Given the description of an element on the screen output the (x, y) to click on. 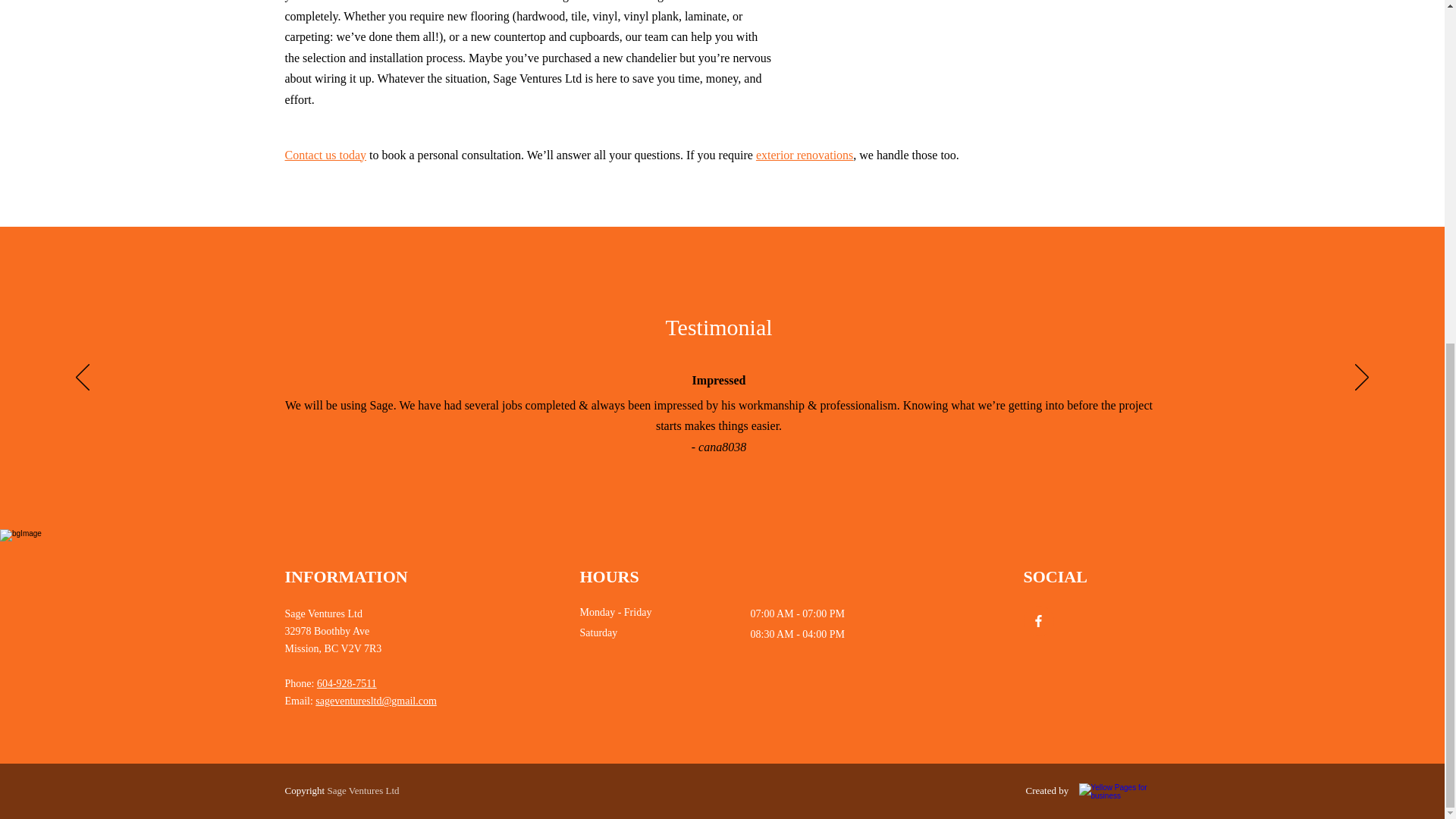
604-928-7511 (347, 683)
exterior renovations (802, 154)
Contact us today (325, 154)
Sage Ventures Ltd (362, 789)
